Given the description of an element on the screen output the (x, y) to click on. 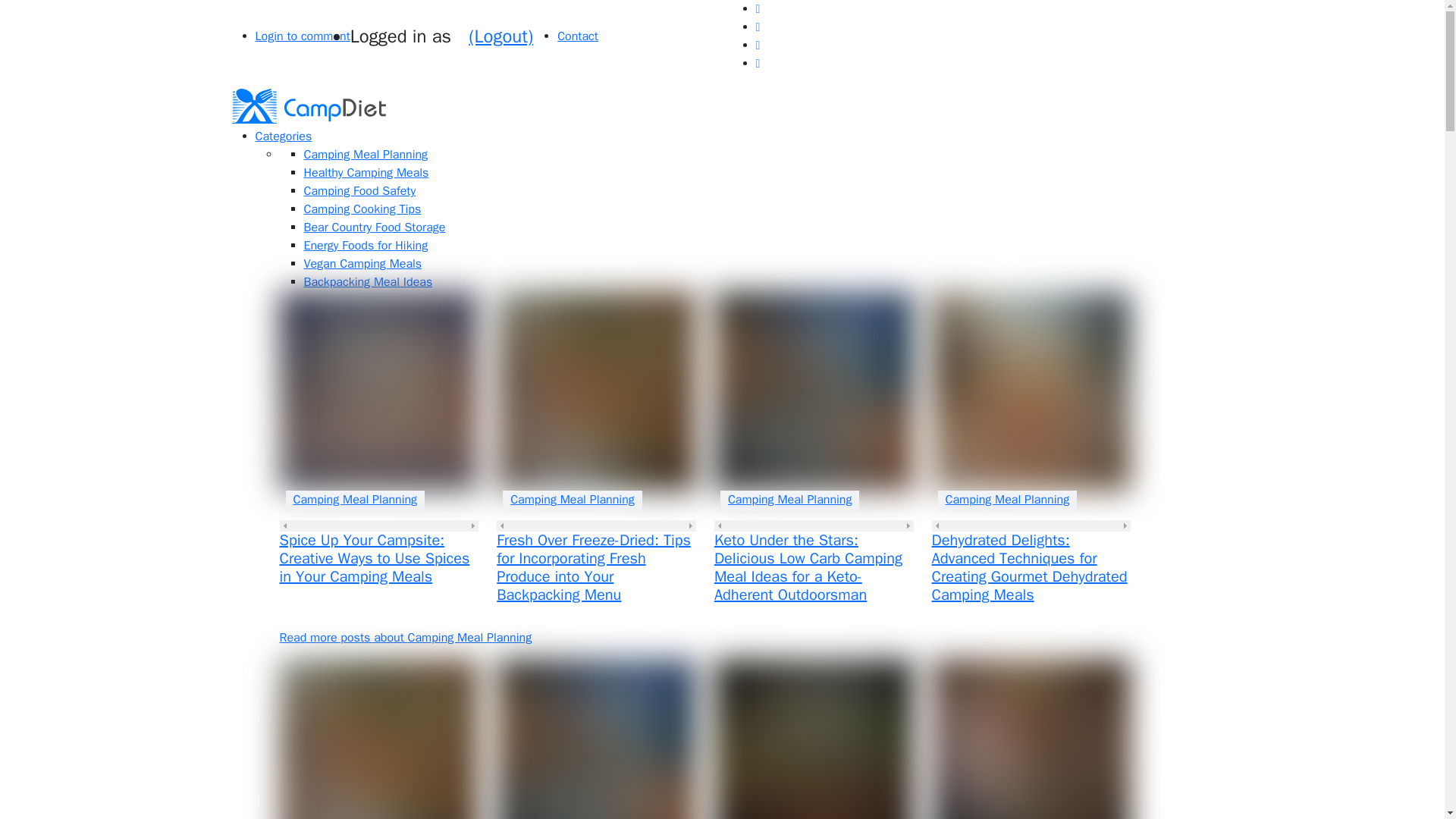
Energy Foods for Hiking (365, 245)
Camping Meal Planning (790, 499)
Camping Cooking Tips (361, 209)
Contact (577, 36)
Backpacking Meal Ideas (367, 281)
Bear Country Food Storage (373, 227)
Healthy Camping Meals (365, 172)
Camping Meal Planning (355, 499)
Login to comment (301, 36)
